Given the description of an element on the screen output the (x, y) to click on. 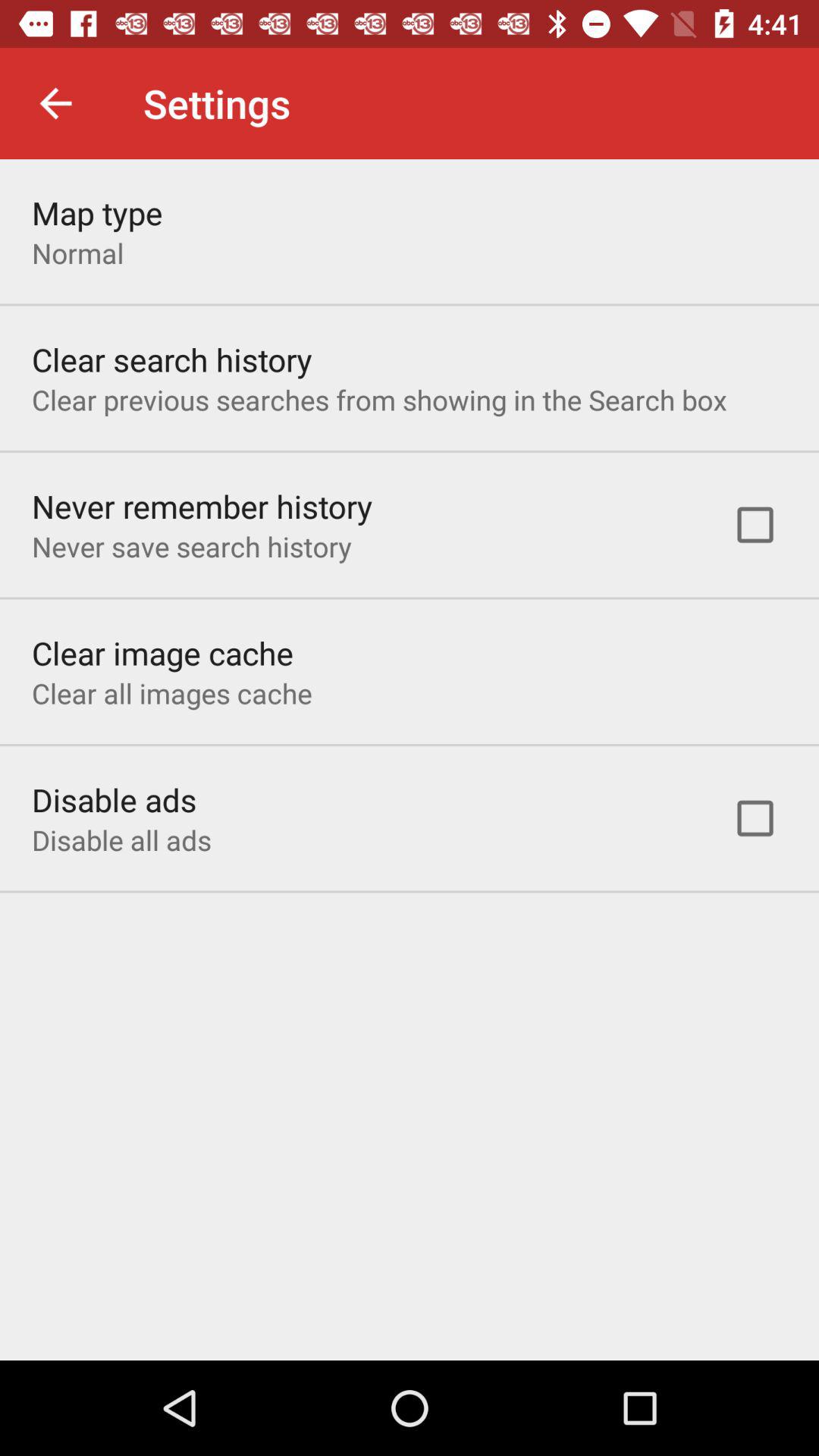
turn on the item above clear search history (77, 252)
